Given the description of an element on the screen output the (x, y) to click on. 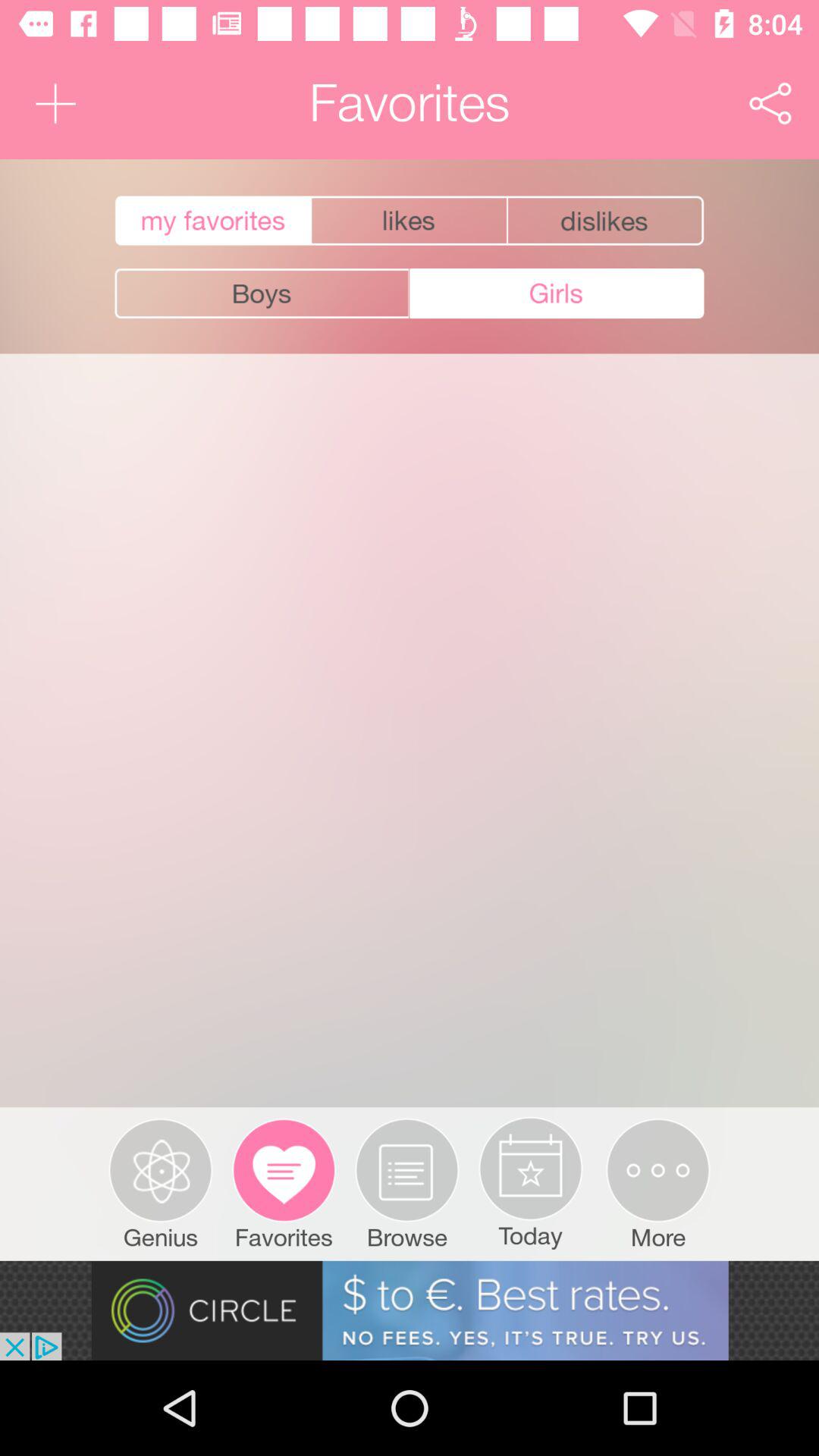
click on the box that reads the text boys shown left to girls (262, 293)
click on the button next to boys (556, 292)
click on genius button at bottom of the page (160, 1183)
click the button between favorites and today (407, 1183)
